Given the description of an element on the screen output the (x, y) to click on. 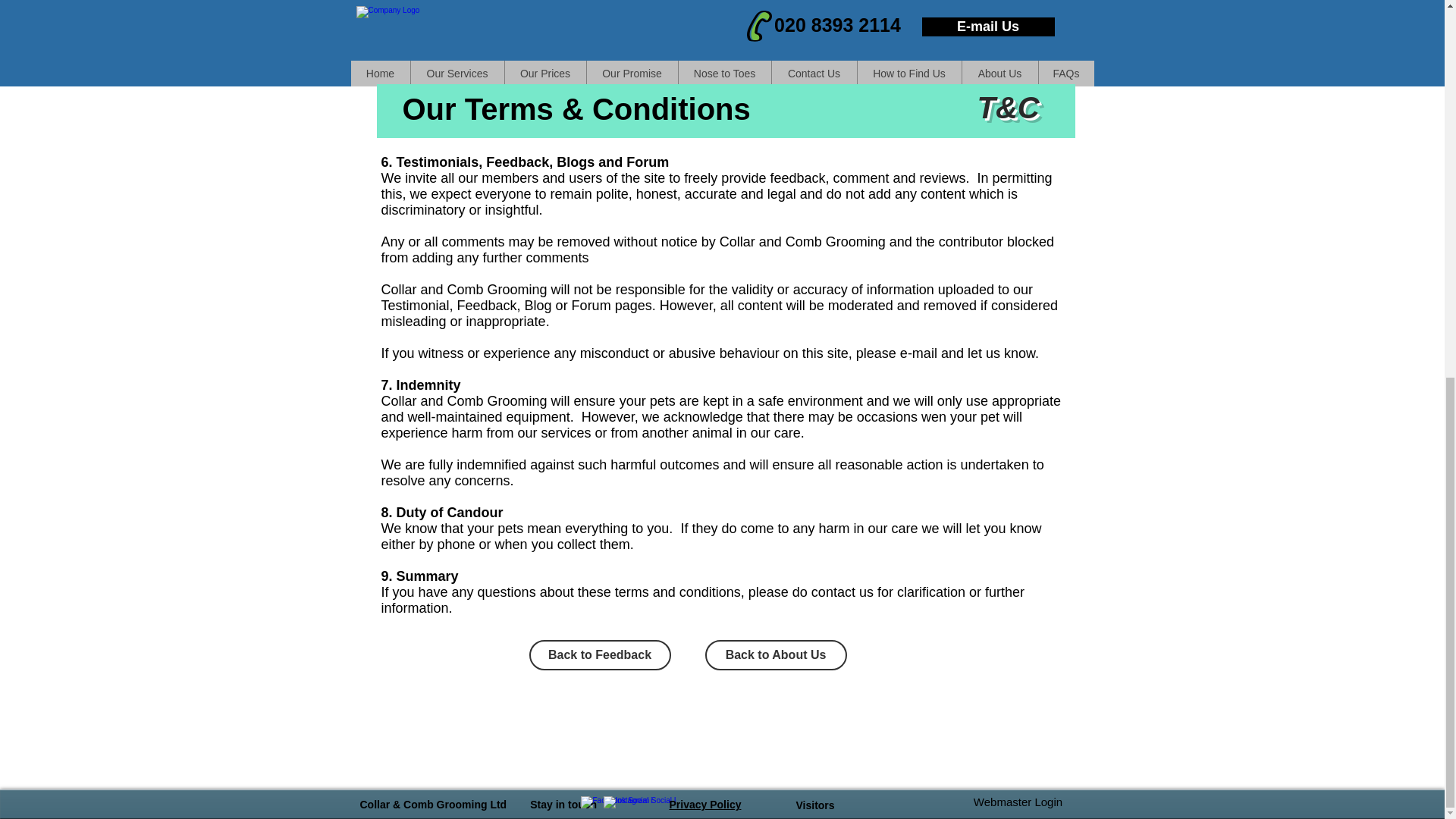
Privacy Policy (704, 106)
Back to Feedback (600, 654)
Webmaster Login (1018, 104)
Back to About Us (775, 654)
